Given the description of an element on the screen output the (x, y) to click on. 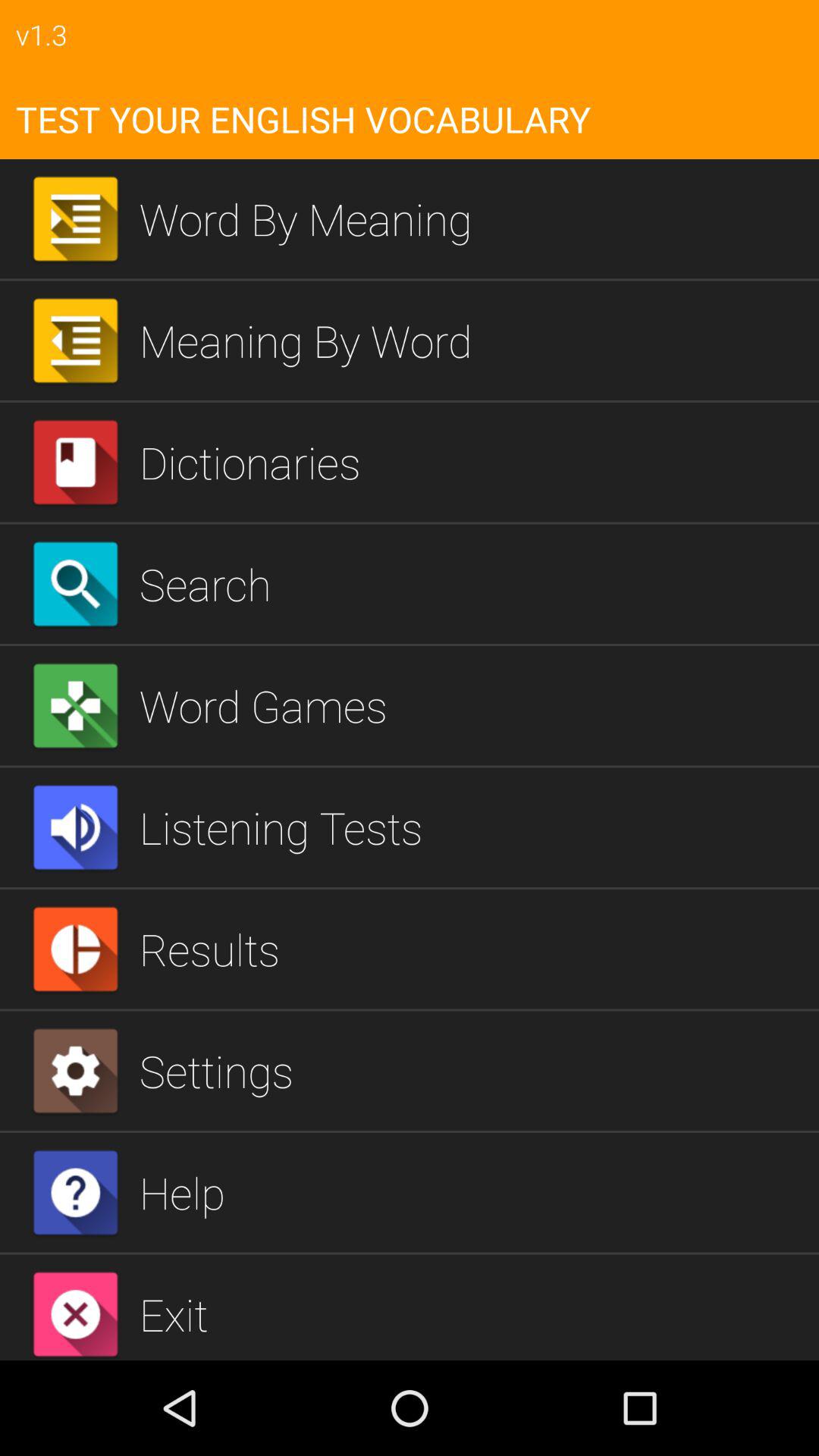
click the app below the settings icon (473, 1192)
